Given the description of an element on the screen output the (x, y) to click on. 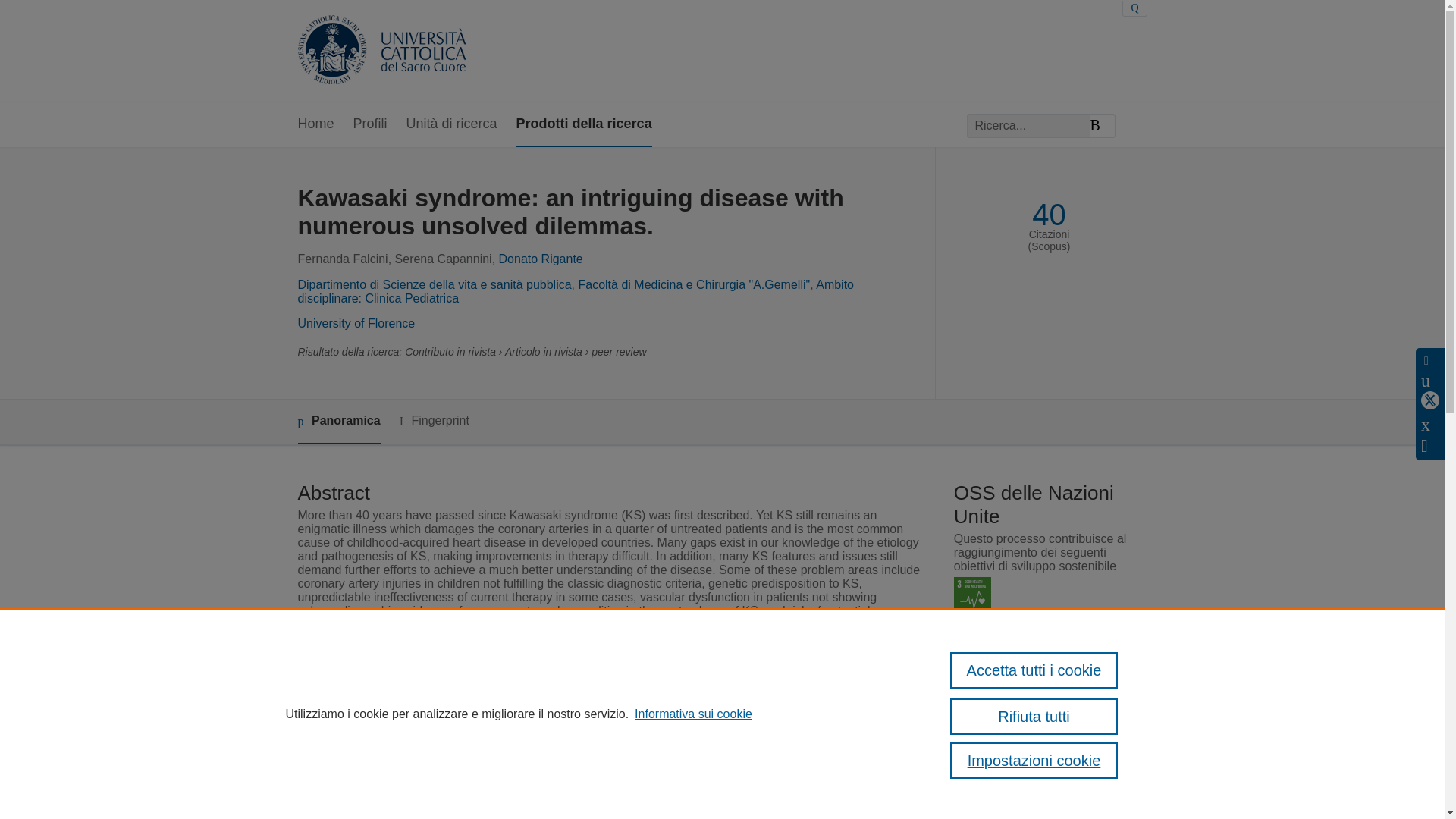
OSS 3 - Salute e benessere (972, 595)
PubliRES - Publications, Research, Expertise and Skills Home (380, 50)
Donato Rigante (541, 258)
Fingerprint (433, 421)
40 (1048, 214)
Link a IRIS PubliCatt (1024, 767)
Ambito disciplinare: Clinica Pediatrica (575, 291)
University of Florence (355, 323)
Prodotti della ricerca (584, 124)
